Given the description of an element on the screen output the (x, y) to click on. 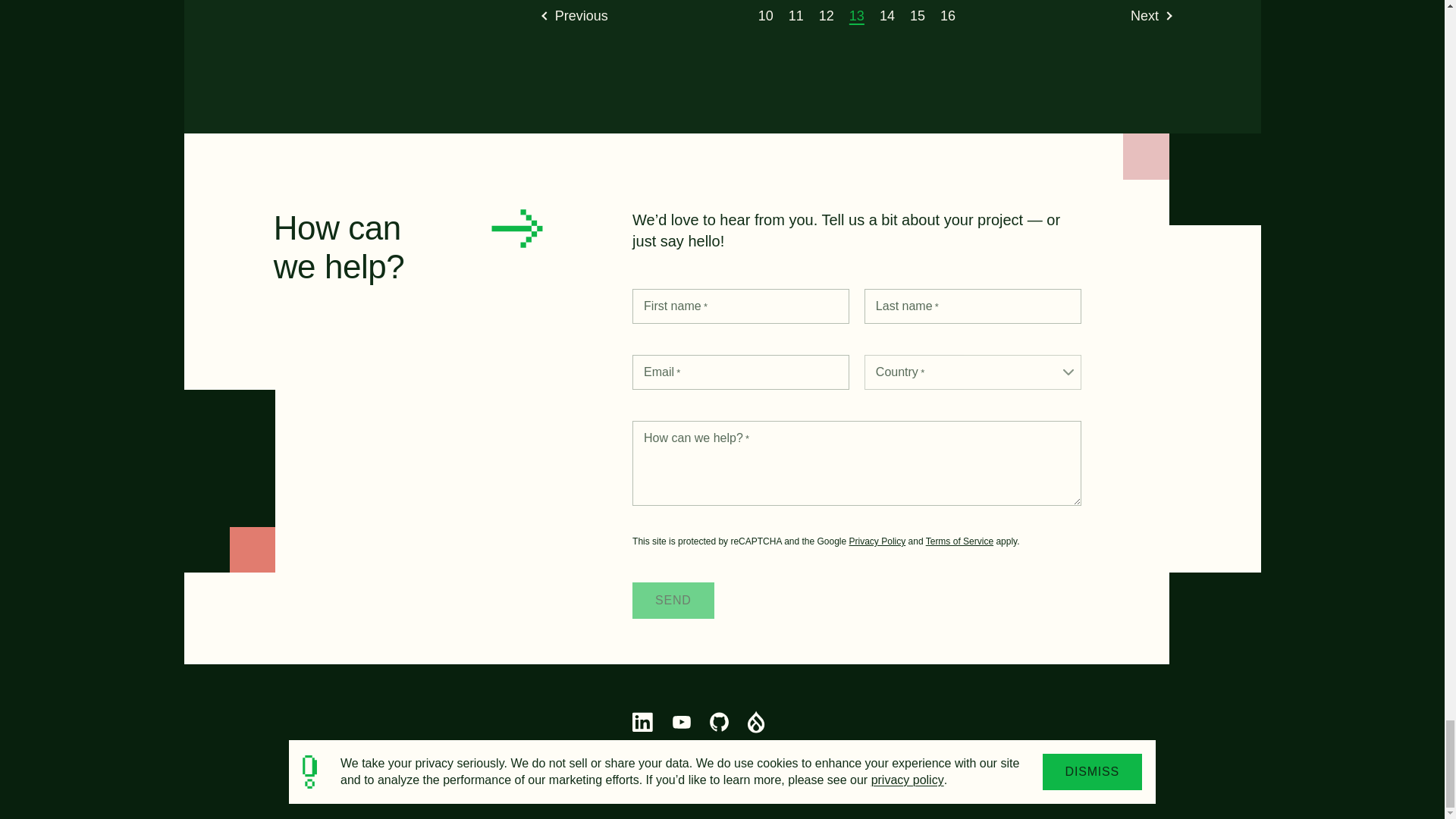
Send (672, 600)
